Given the description of an element on the screen output the (x, y) to click on. 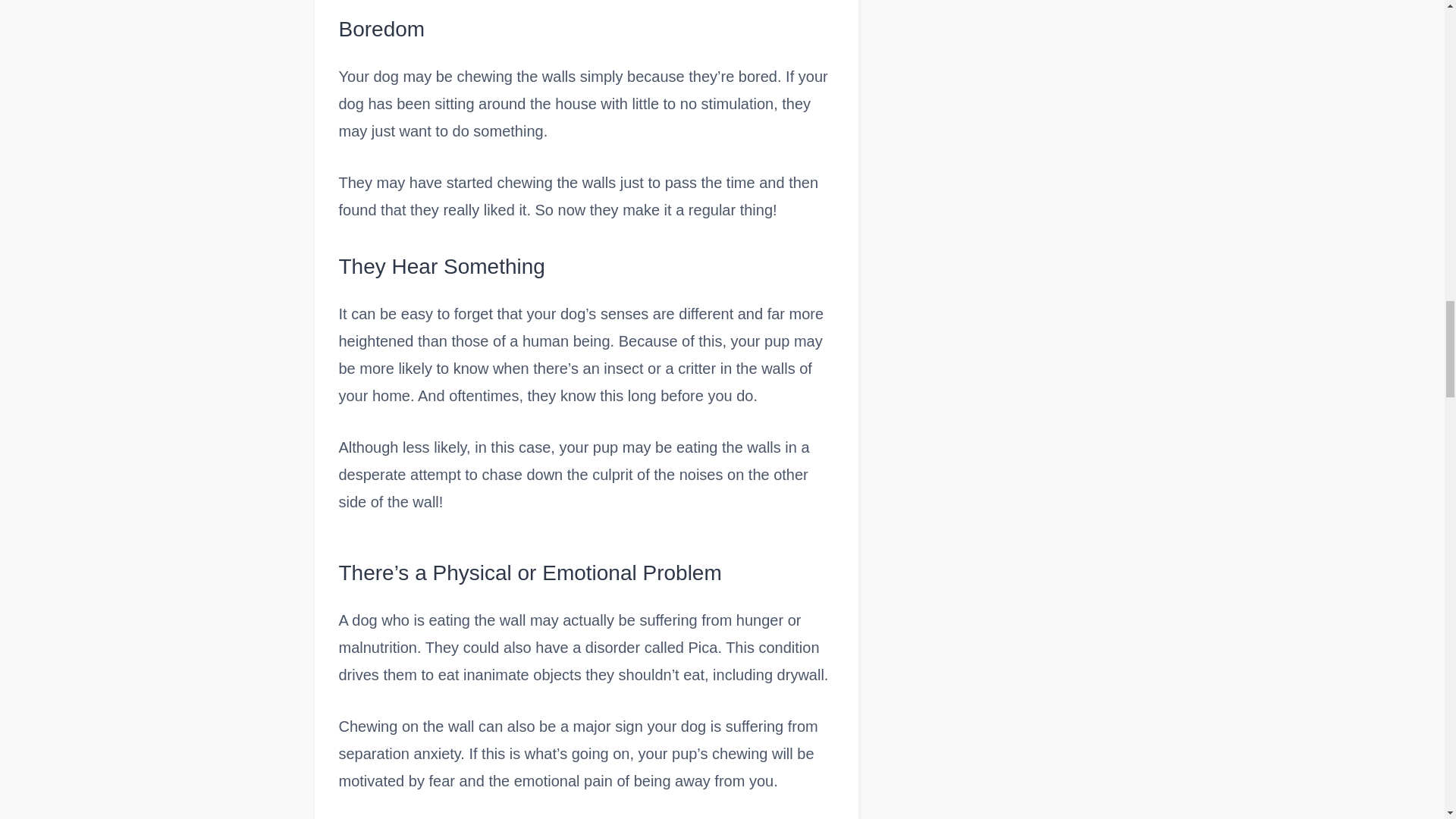
They Hear Something (584, 266)
Boredom (584, 29)
